Given the description of an element on the screen output the (x, y) to click on. 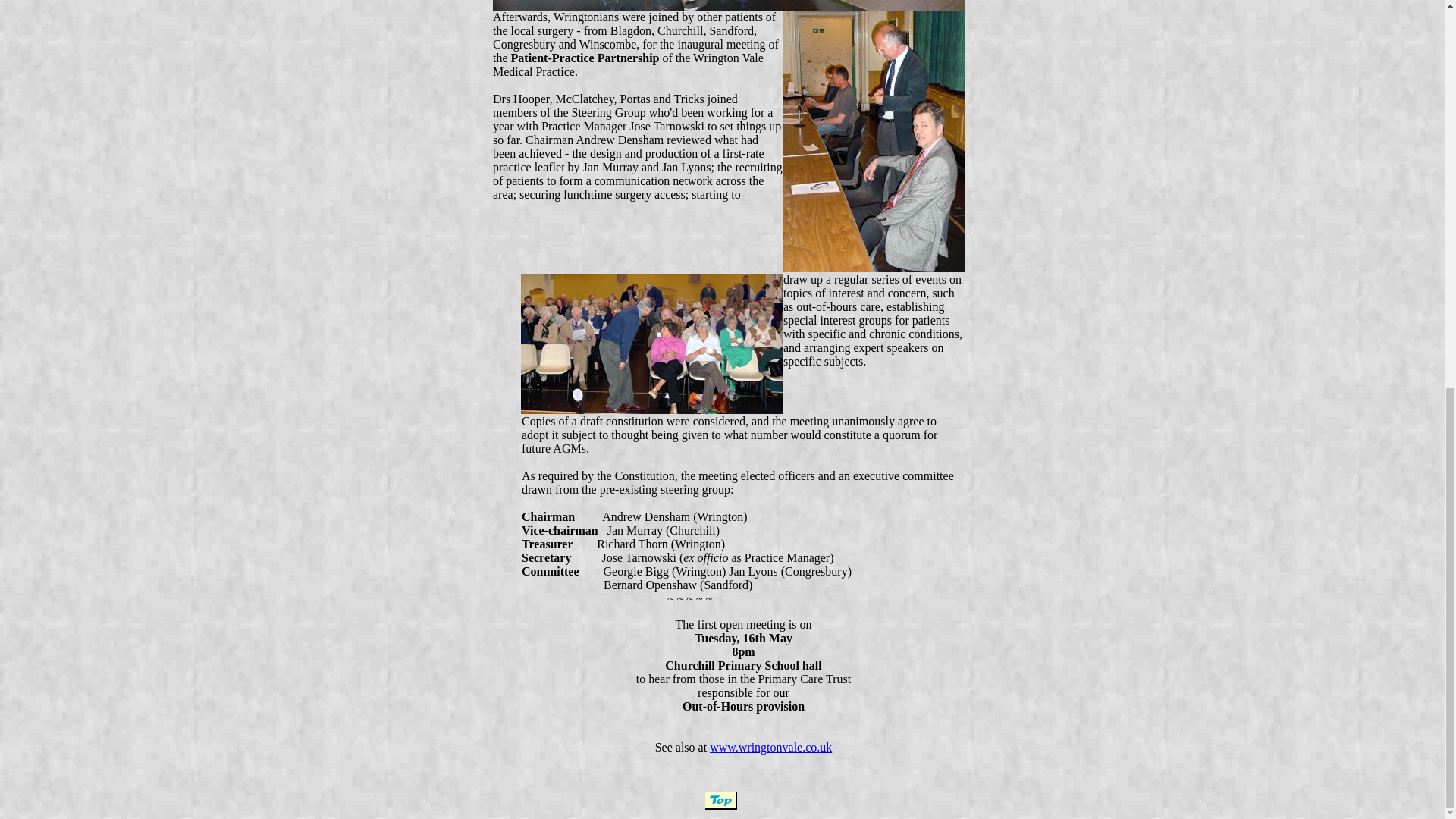
www.wringtonvale.co.uk (770, 747)
